Given the description of an element on the screen output the (x, y) to click on. 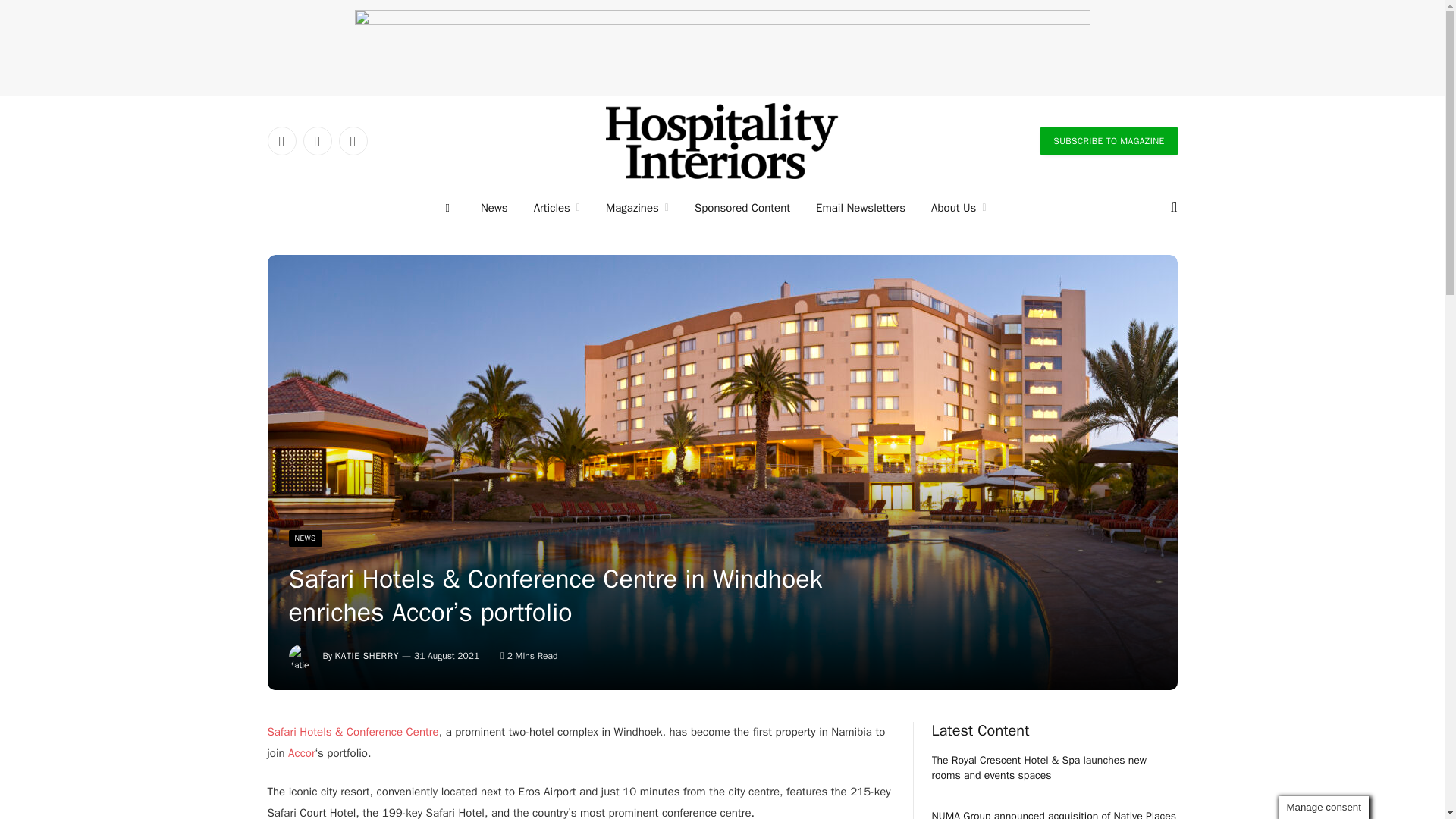
LinkedIn (280, 140)
Posts by Katie Sherry (366, 655)
Instagram (351, 140)
Hospitality Interiors (722, 140)
News (494, 207)
Articles (556, 207)
SUBSCRIBE TO MAGAZINE (1108, 140)
